Given the description of an element on the screen output the (x, y) to click on. 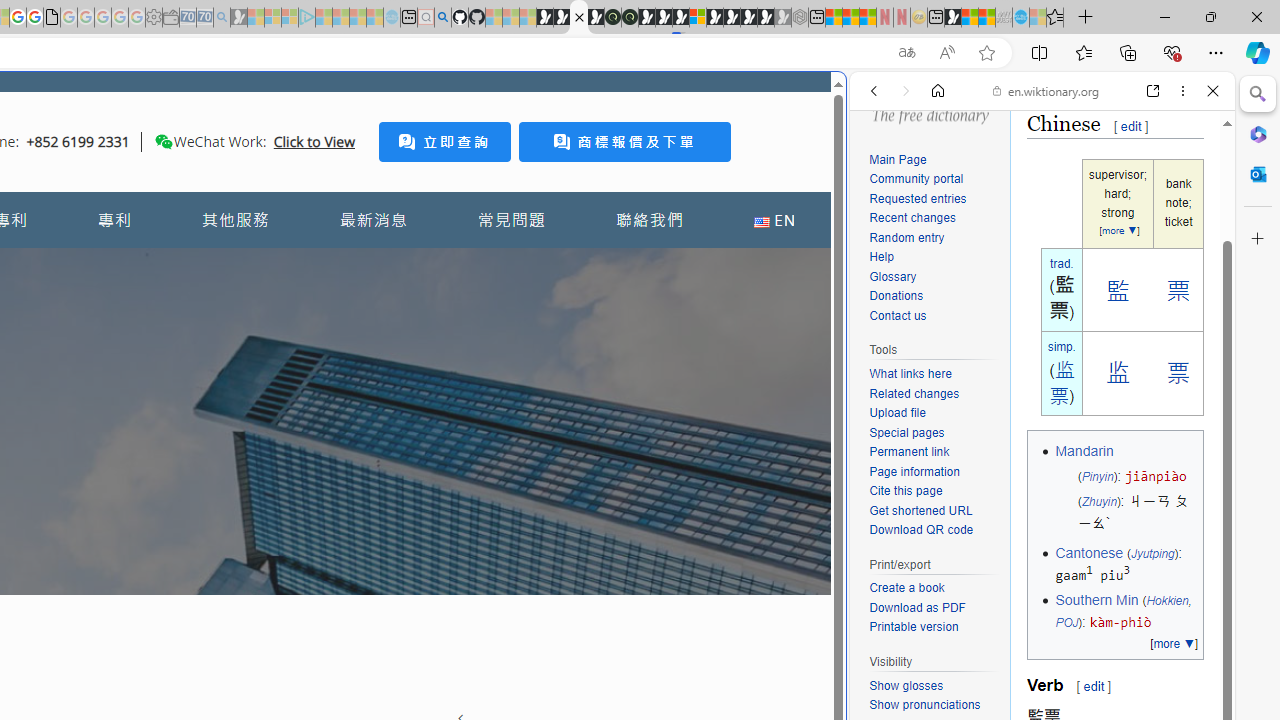
Download as PDF (917, 606)
Show pronunciations (924, 704)
Close Customize pane (1258, 239)
Zhuyin (1099, 502)
Forward (906, 91)
What links here (934, 375)
Search Filter, VIDEOS (1006, 228)
trad. (1061, 263)
Recent changes (934, 218)
